Given the description of an element on the screen output the (x, y) to click on. 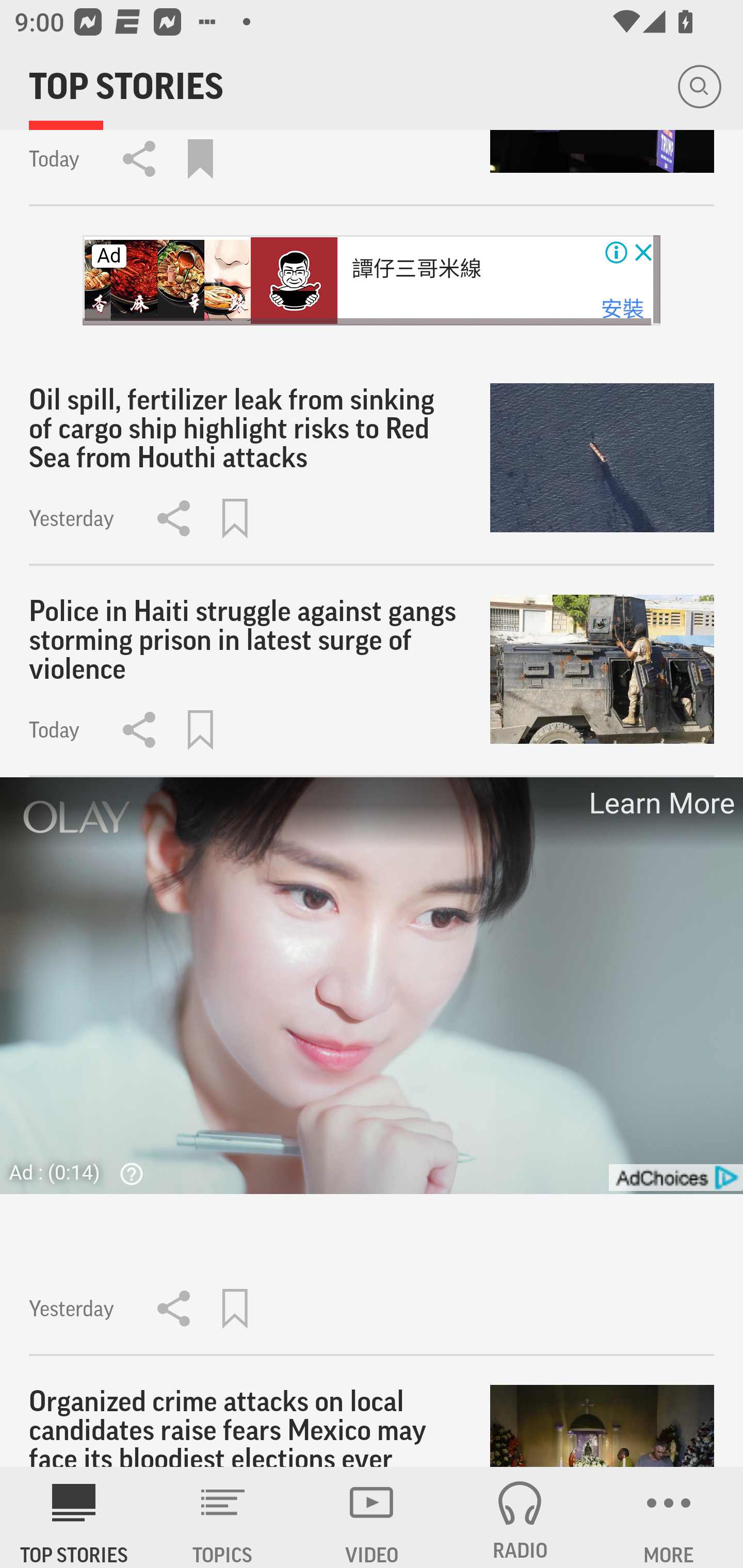
譚仔三哥米線 (416, 268)
安裝 (621, 309)
Learn More (660, 803)
Ad : (0:14) Why This Ad? (82, 1171)
Why This Ad? (126, 1173)
get?name=admarker-full-tl (675, 1178)
AP News TOP STORIES (74, 1517)
TOPICS (222, 1517)
VIDEO (371, 1517)
RADIO (519, 1517)
MORE (668, 1517)
